Given the description of an element on the screen output the (x, y) to click on. 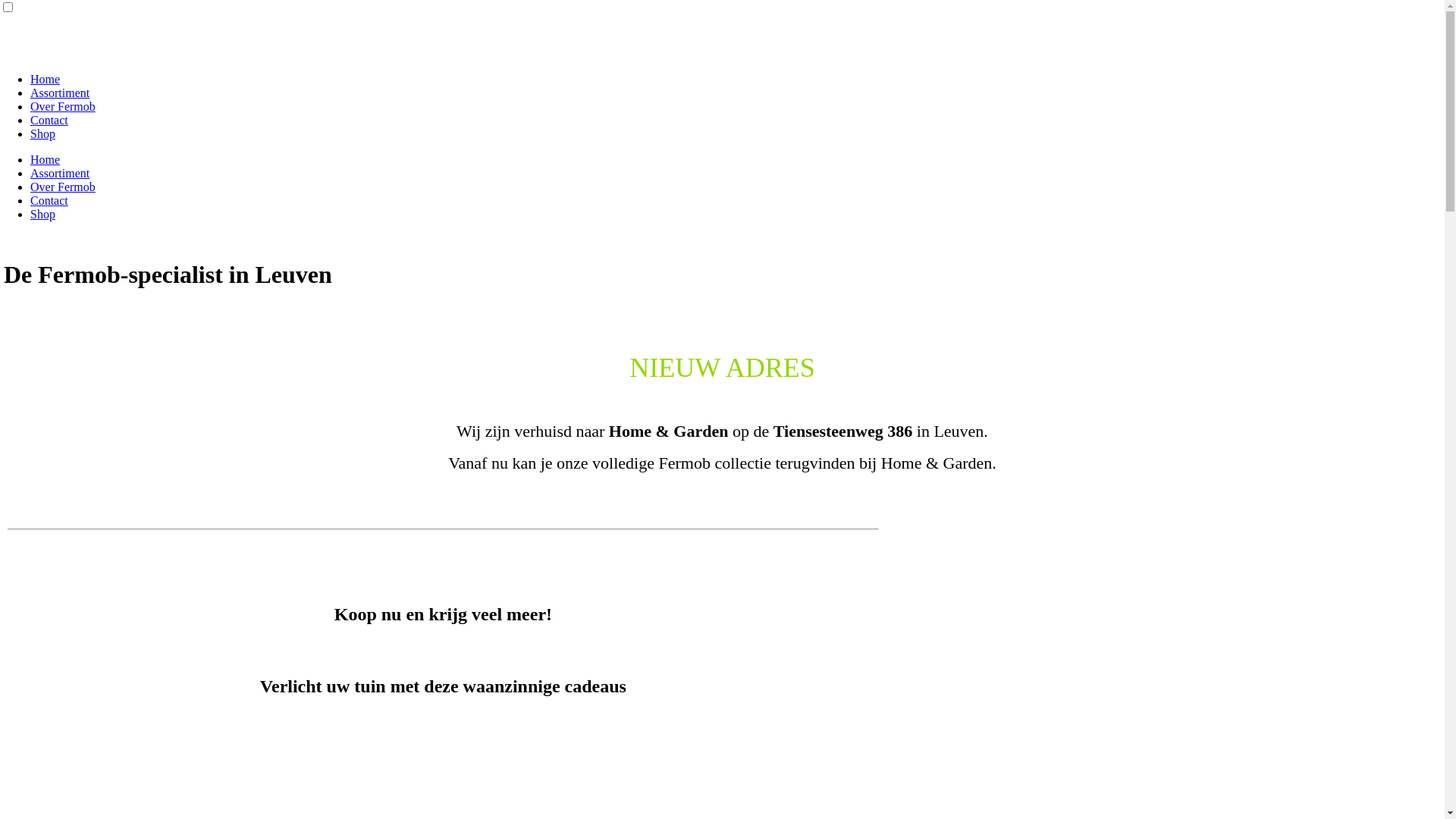
Shop Element type: text (42, 213)
Over Fermob Element type: text (62, 106)
Contact Element type: text (49, 200)
Assortiment Element type: text (59, 92)
Over Fermob Element type: text (62, 186)
Home Element type: text (44, 159)
Shop Element type: text (42, 133)
Home Element type: text (44, 78)
Contact Element type: text (49, 119)
Assortiment Element type: text (59, 172)
